Given the description of an element on the screen output the (x, y) to click on. 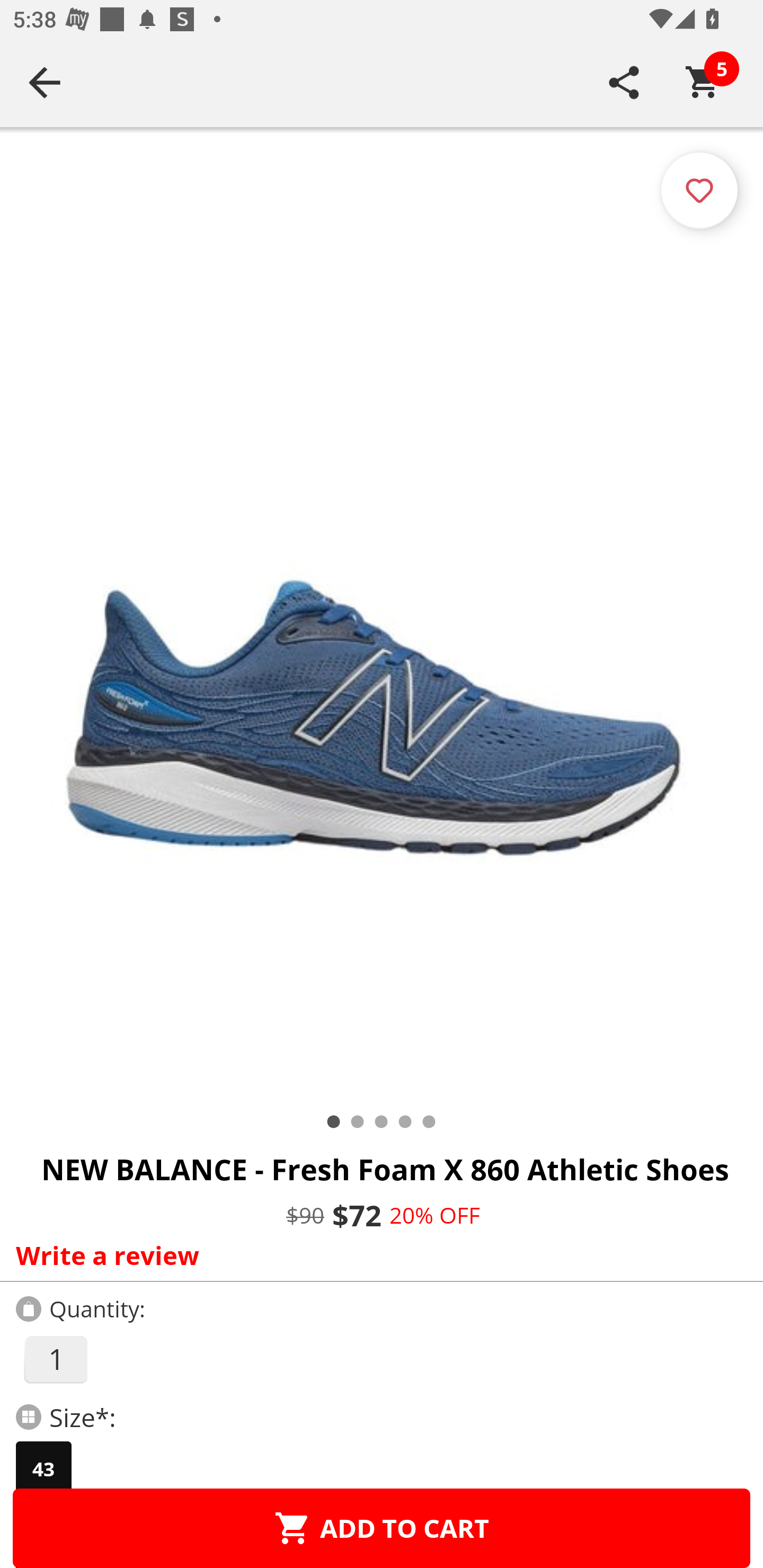
Navigate up (44, 82)
SHARE (623, 82)
Cart (703, 81)
Write a review (377, 1255)
1 (55, 1358)
43 (43, 1468)
ADD TO CART (381, 1528)
